Given the description of an element on the screen output the (x, y) to click on. 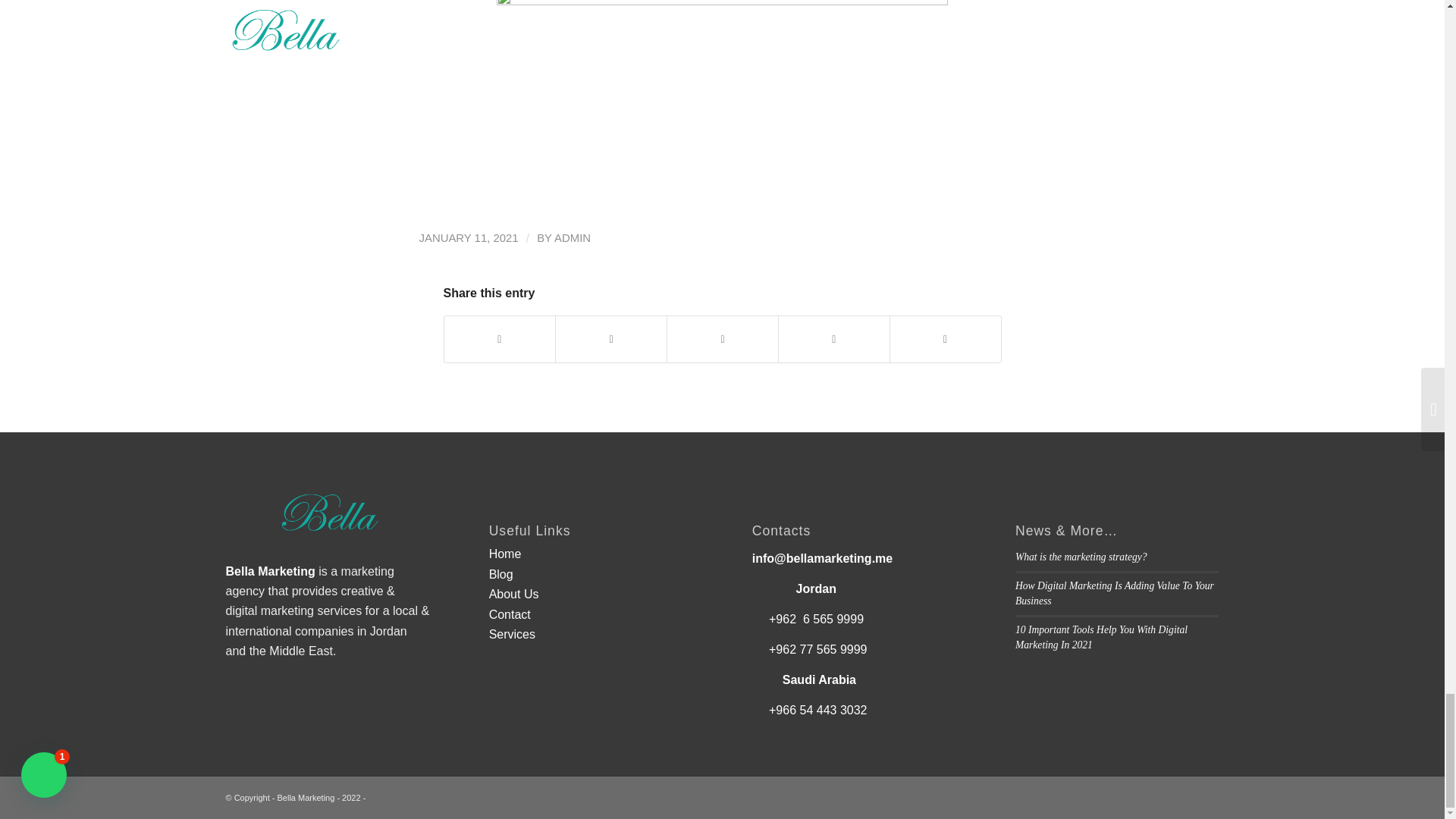
About Us (513, 594)
Services (512, 634)
How Digital Marketing Is Adding Value To Your Business (1114, 592)
Contact (510, 614)
What is the marketing strategy? (1080, 556)
Posts by admin (572, 237)
ADMIN (572, 237)
Home (505, 553)
Blog (501, 574)
10 Important Tools Help You With Digital Marketing In 2021 (1101, 637)
